Given the description of an element on the screen output the (x, y) to click on. 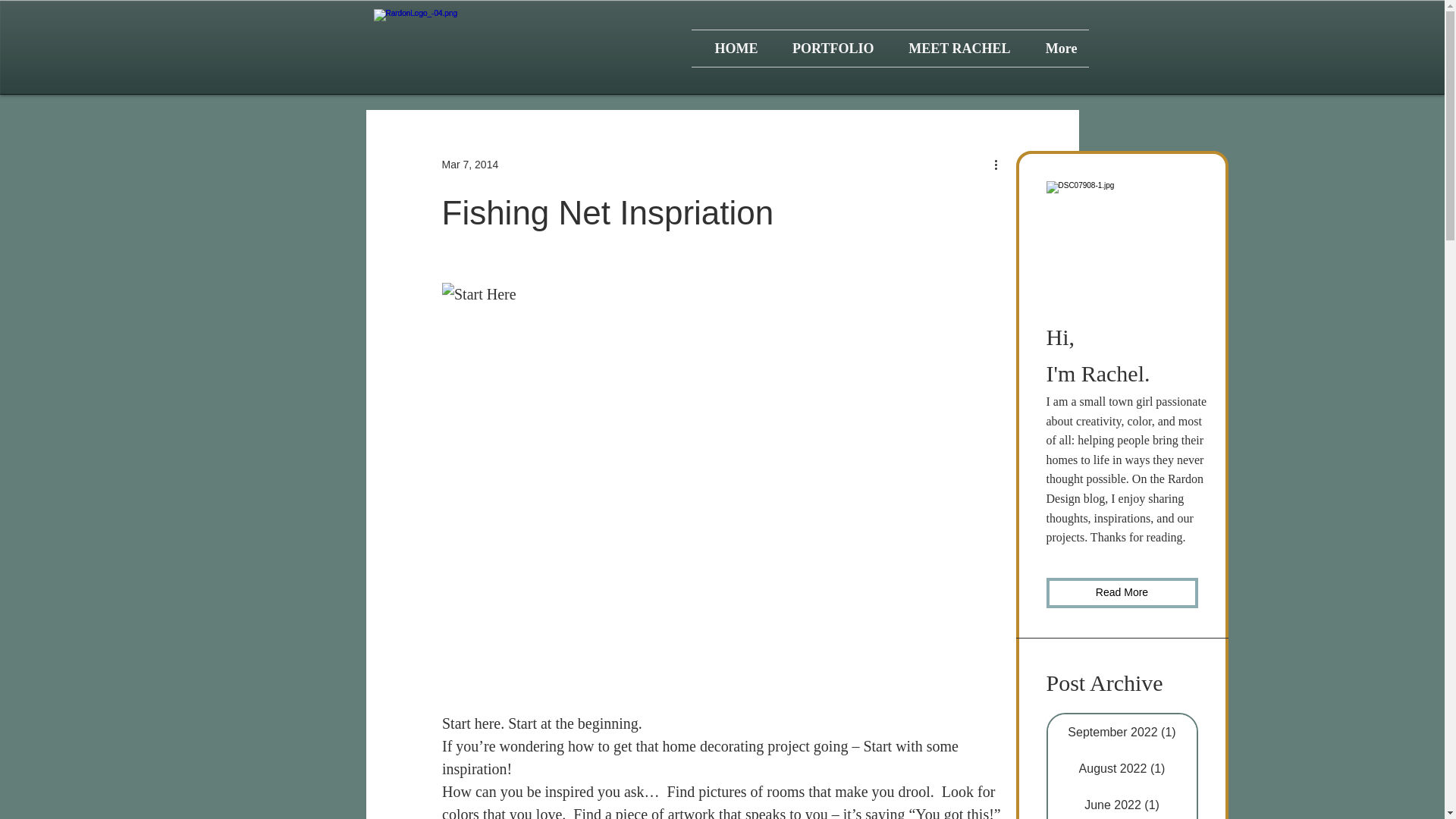
HOME (730, 48)
PORTFOLIO (826, 48)
MEET RACHEL (953, 48)
Mar 7, 2014 (469, 163)
Read More (1122, 593)
